Given the description of an element on the screen output the (x, y) to click on. 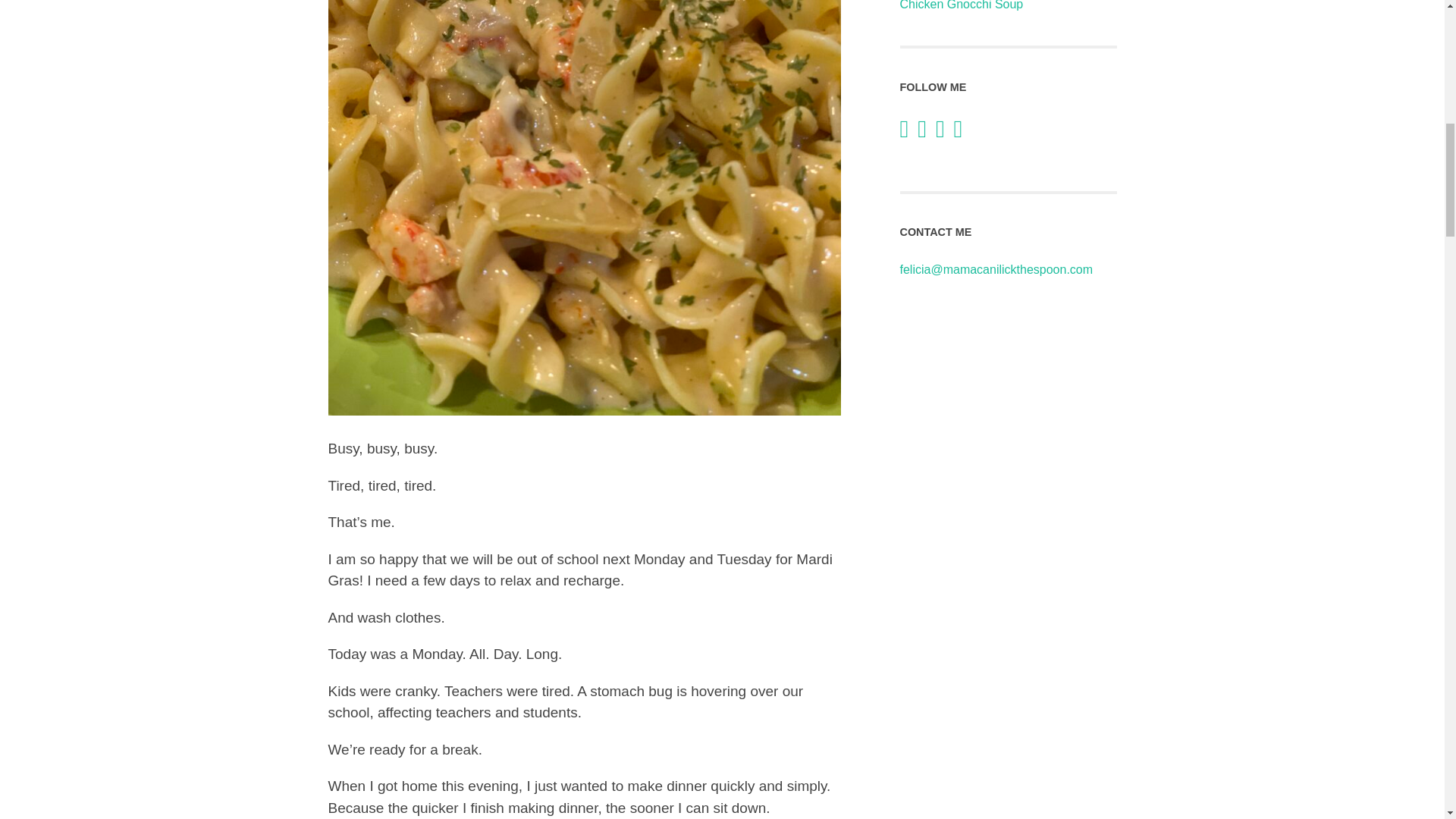
Chicken Gnocchi Soup (1007, 6)
